Given the description of an element on the screen output the (x, y) to click on. 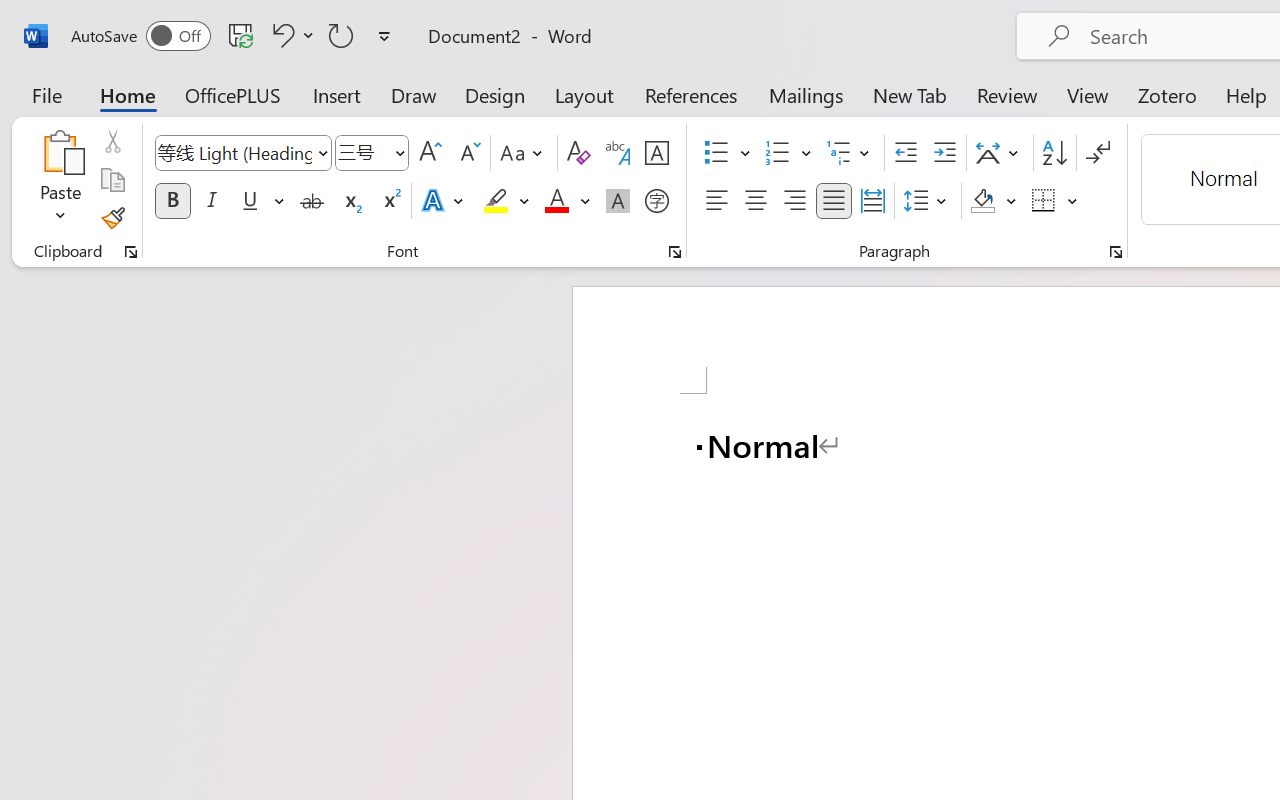
Copy (112, 179)
Font Color (567, 201)
Line and Paragraph Spacing (927, 201)
Undo Typing (280, 35)
Cut (112, 141)
File Tab (46, 94)
Underline (250, 201)
Office Clipboard... (131, 252)
Sort... (1054, 153)
Undo Typing (290, 35)
Borders (1044, 201)
Format Painter (112, 218)
Bullets (716, 153)
Customize Quick Access Toolbar (384, 35)
Increase Indent (944, 153)
